Given the description of an element on the screen output the (x, y) to click on. 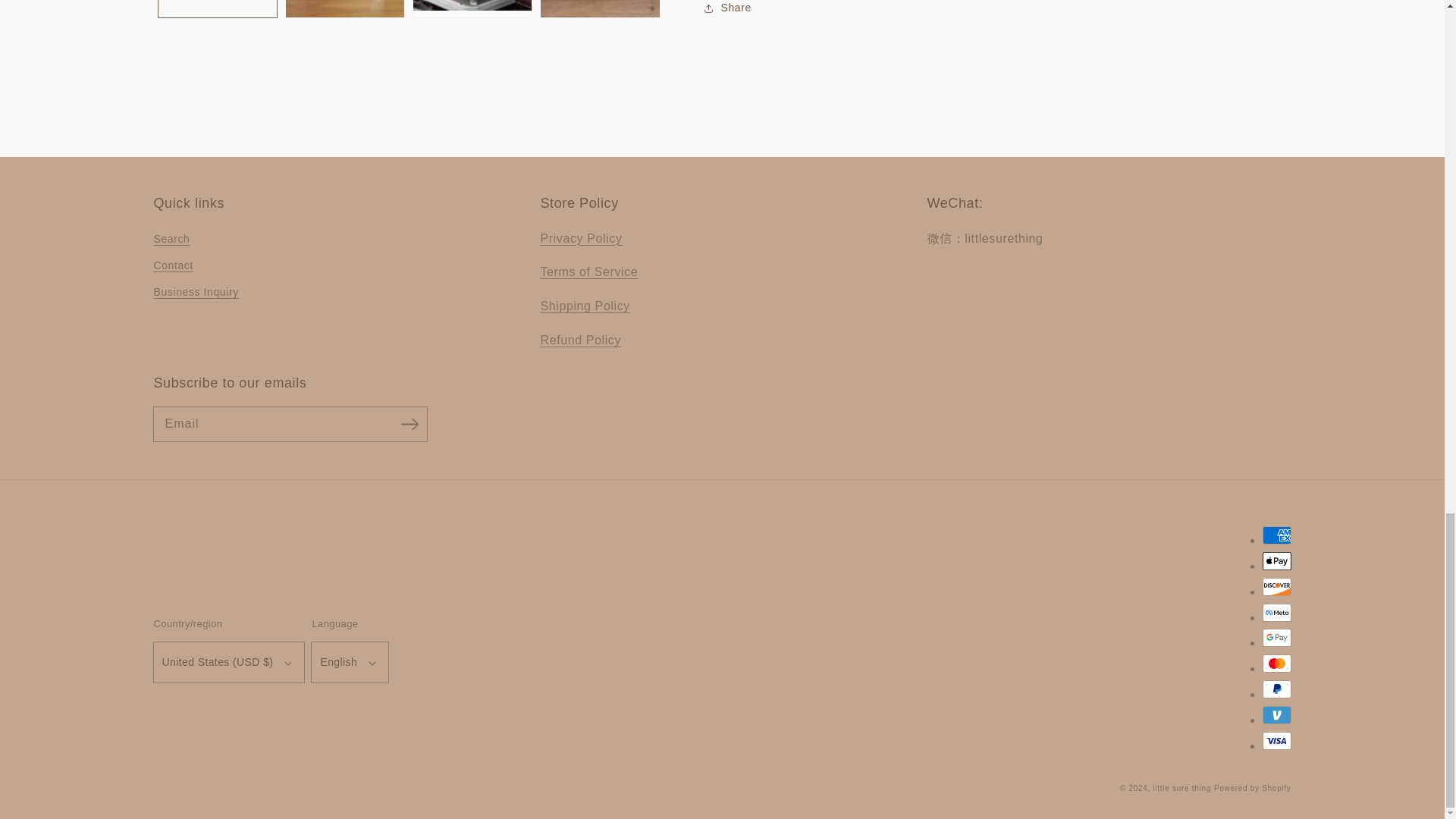
Shipping Policy (584, 305)
Google Pay (1276, 637)
American Express (1276, 535)
Mastercard (1276, 663)
Privacy Policy (580, 237)
Refund Policy (580, 339)
Venmo (1276, 714)
PayPal (1276, 689)
Apple Pay (1276, 561)
Discover (1276, 587)
